Given the description of an element on the screen output the (x, y) to click on. 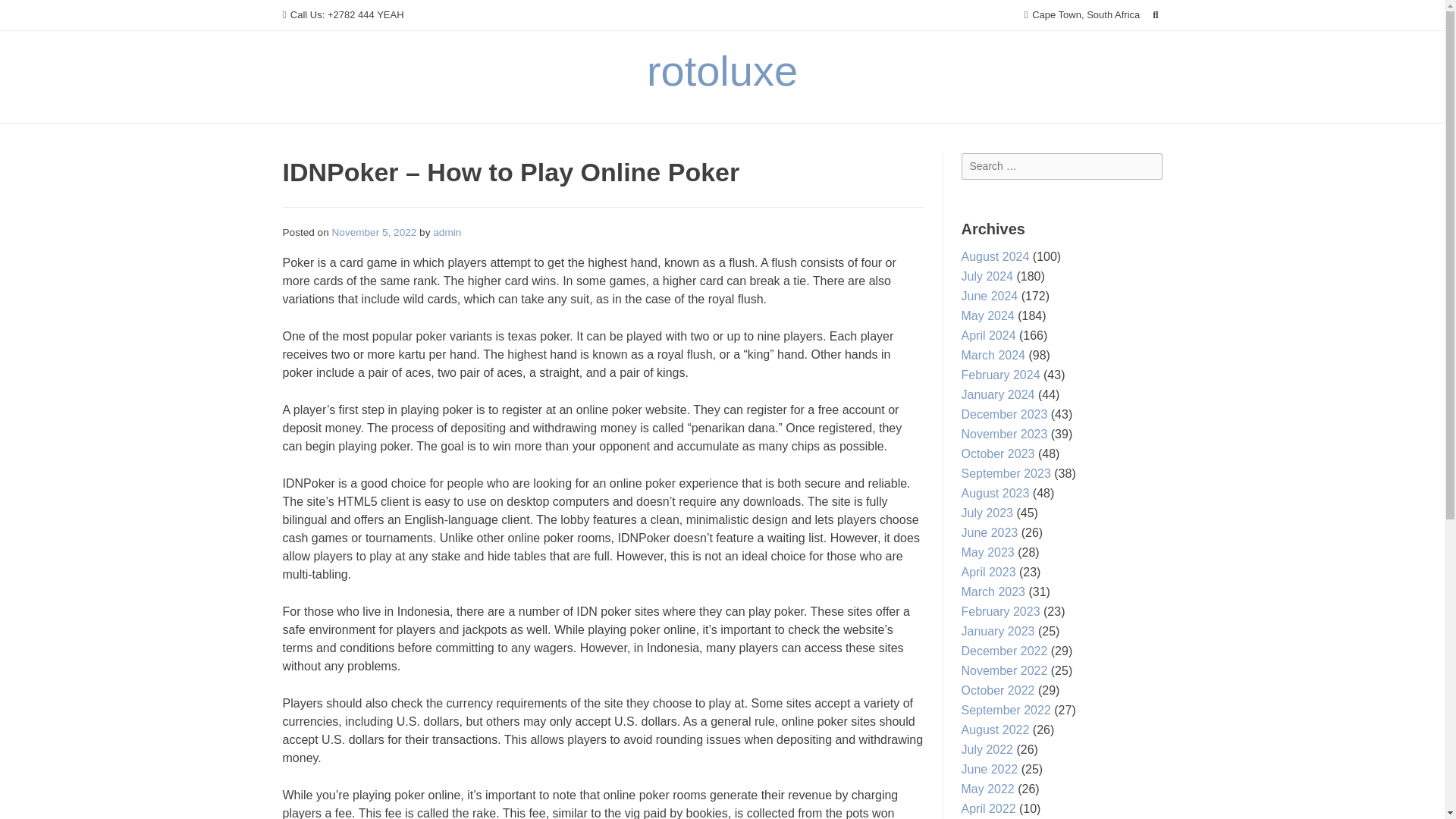
September 2022 (1005, 709)
June 2022 (988, 768)
May 2023 (987, 552)
April 2024 (988, 335)
rotoluxe (721, 70)
August 2023 (994, 492)
July 2024 (986, 276)
August 2022 (994, 729)
October 2022 (997, 689)
November 2023 (1004, 433)
